Given the description of an element on the screen output the (x, y) to click on. 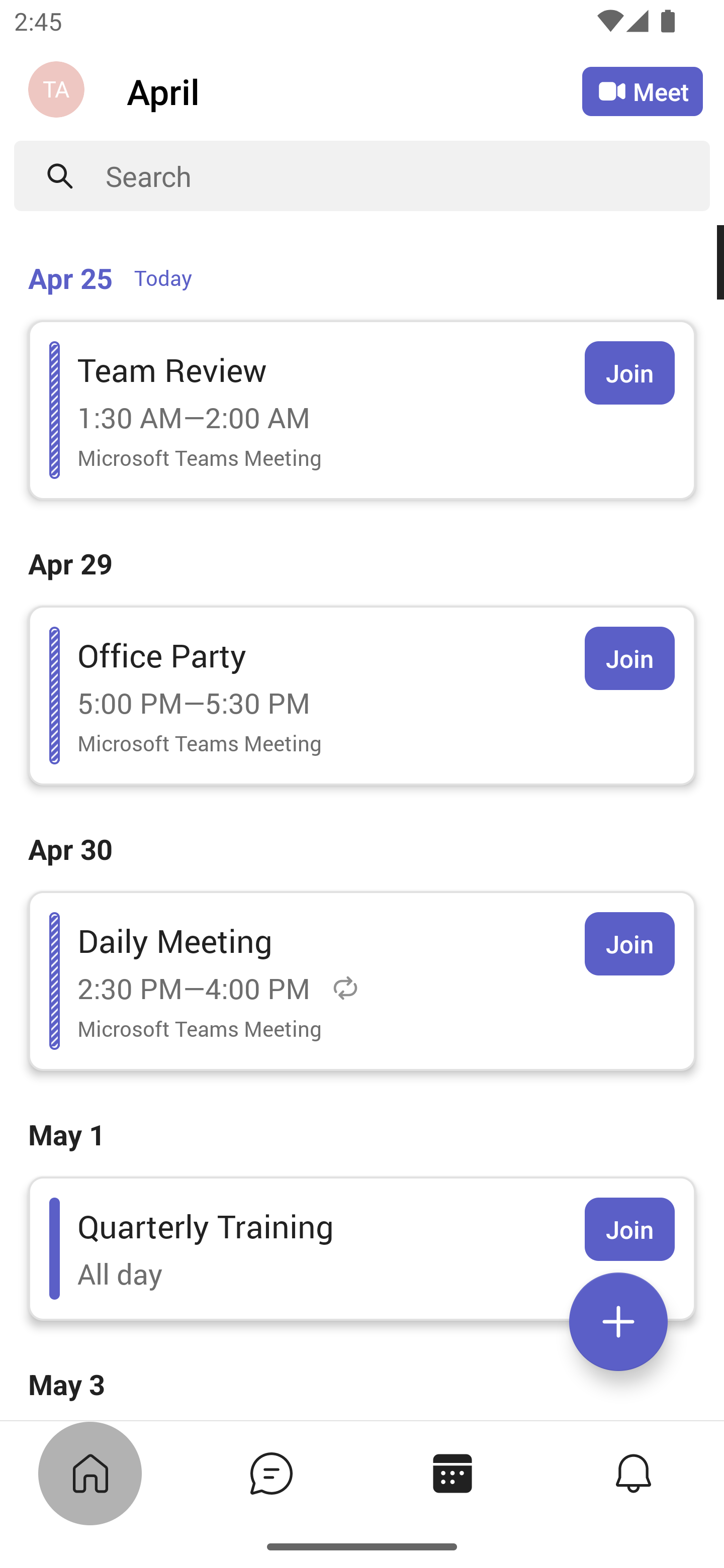
Navigation (58, 91)
Meet Meet now or join with an ID (642, 91)
April April Calendar Agenda View (354, 90)
Search (407, 176)
Join (629, 372)
Join (629, 658)
Join (629, 943)
Join (629, 1228)
Expand meetings menu (618, 1321)
Home tab,1 of 4, not selected (89, 1472)
Chat tab,2 of 4, not selected (270, 1472)
Calendar tab, 3 of 4 (451, 1472)
Activity tab,4 of 4, not selected (632, 1472)
